Given the description of an element on the screen output the (x, y) to click on. 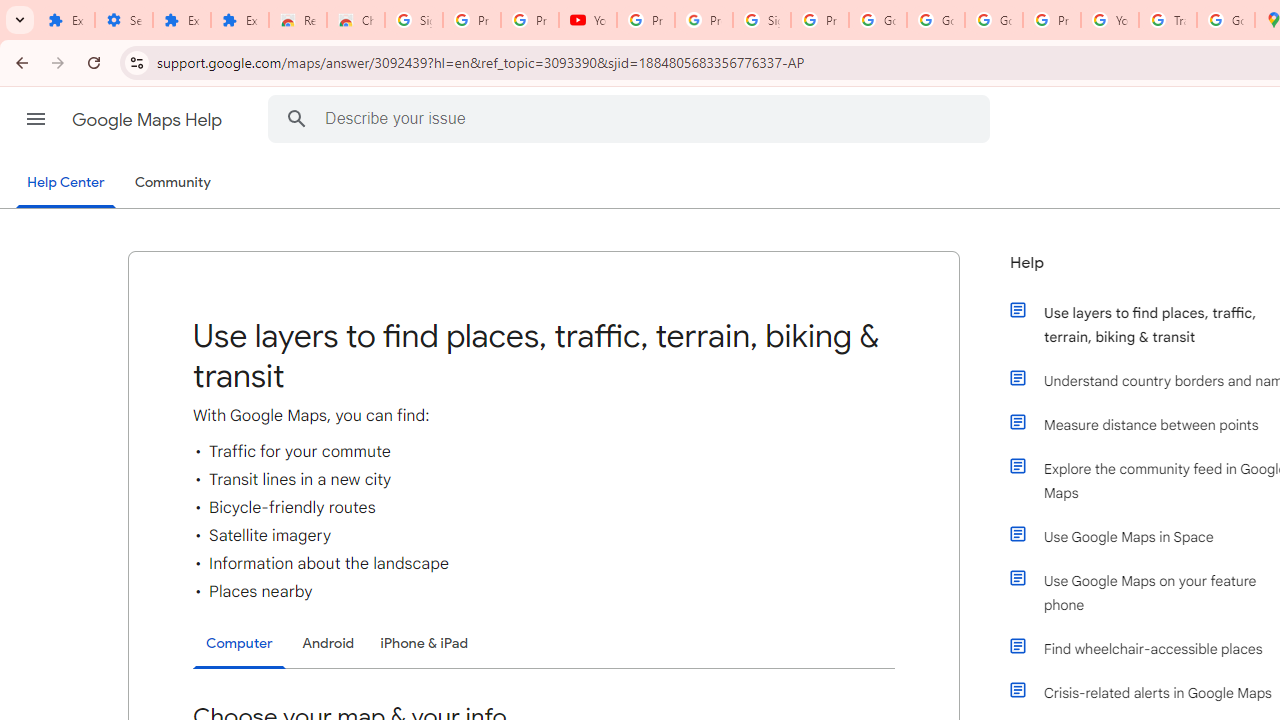
Search tabs (20, 20)
YouTube (587, 20)
YouTube (1110, 20)
Extensions (65, 20)
Reload (93, 62)
View site information (136, 62)
iPhone & iPad (424, 642)
Extensions (181, 20)
Back (19, 62)
Describe your issue (632, 118)
Sign in - Google Accounts (413, 20)
